Given the description of an element on the screen output the (x, y) to click on. 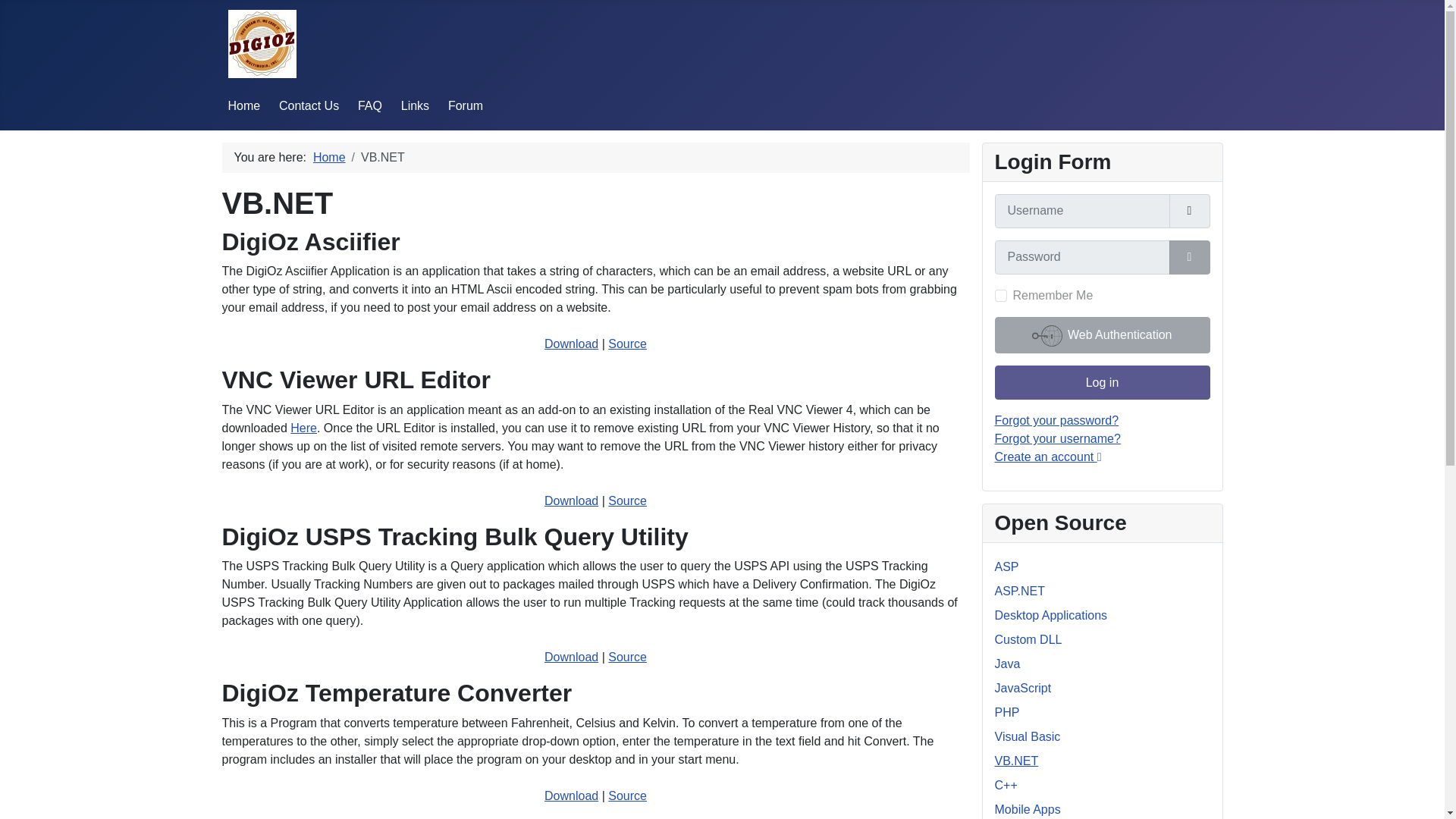
Download (571, 656)
Download (571, 795)
JavaScript (1022, 687)
Source (627, 500)
Custom DLL (1028, 639)
VB.NET (1016, 760)
Source (627, 656)
Contact Us (309, 105)
Desktop Applications (1051, 615)
yes (1000, 295)
